Given the description of an element on the screen output the (x, y) to click on. 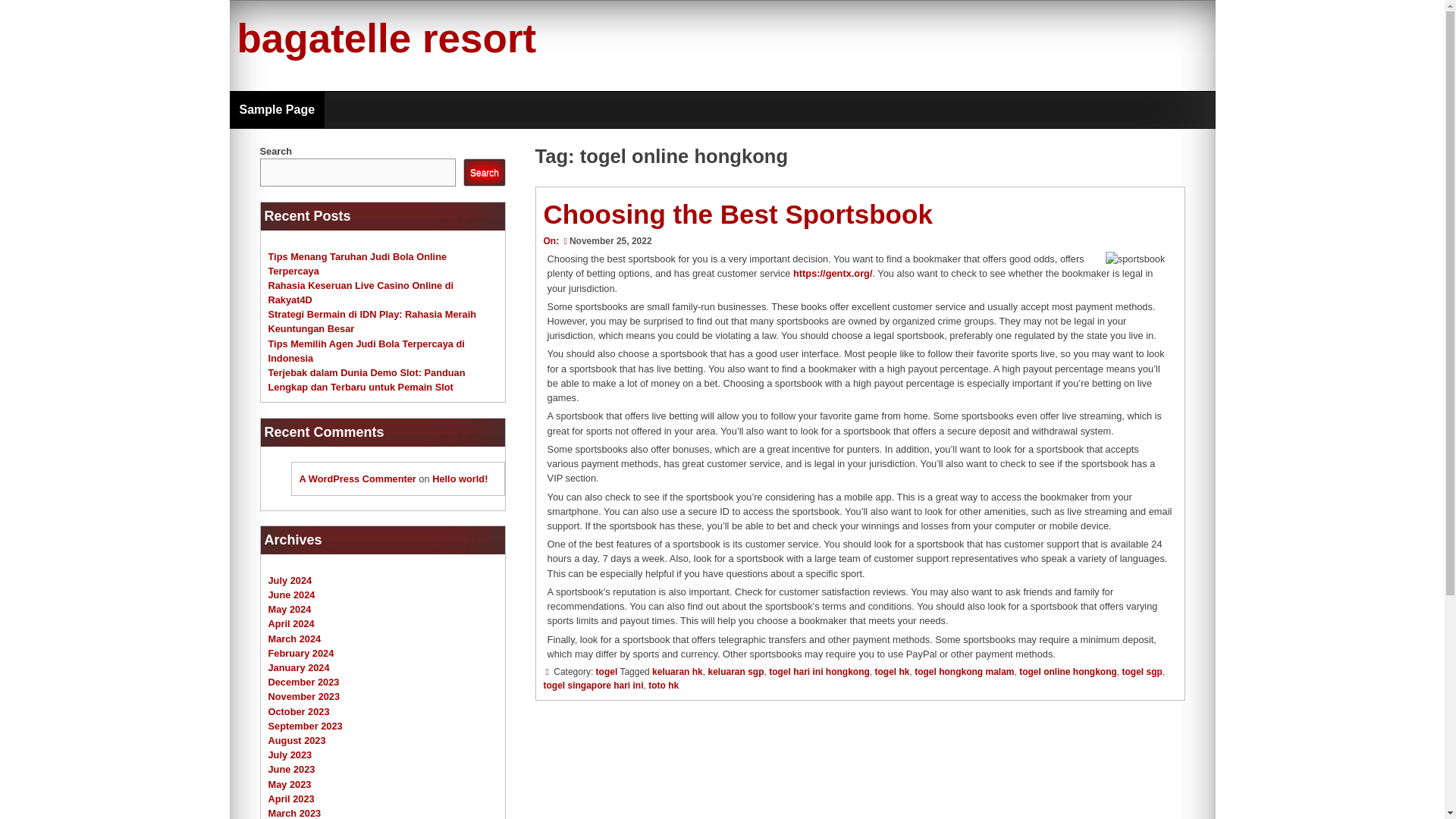
togel hari ini hongkong (818, 671)
keluaran hk (677, 671)
June 2023 (291, 768)
February 2024 (300, 653)
May 2024 (289, 609)
Choosing the Best Sportsbook (737, 214)
togel singapore hari ini (593, 685)
Tips Menang Taruhan Judi Bola Online Terpercaya (356, 263)
December 2023 (303, 681)
bagatelle resort (385, 37)
June 2024 (291, 594)
September 2023 (304, 726)
November 25, 2022 (605, 240)
August 2023 (296, 740)
togel sgp (1141, 671)
